Given the description of an element on the screen output the (x, y) to click on. 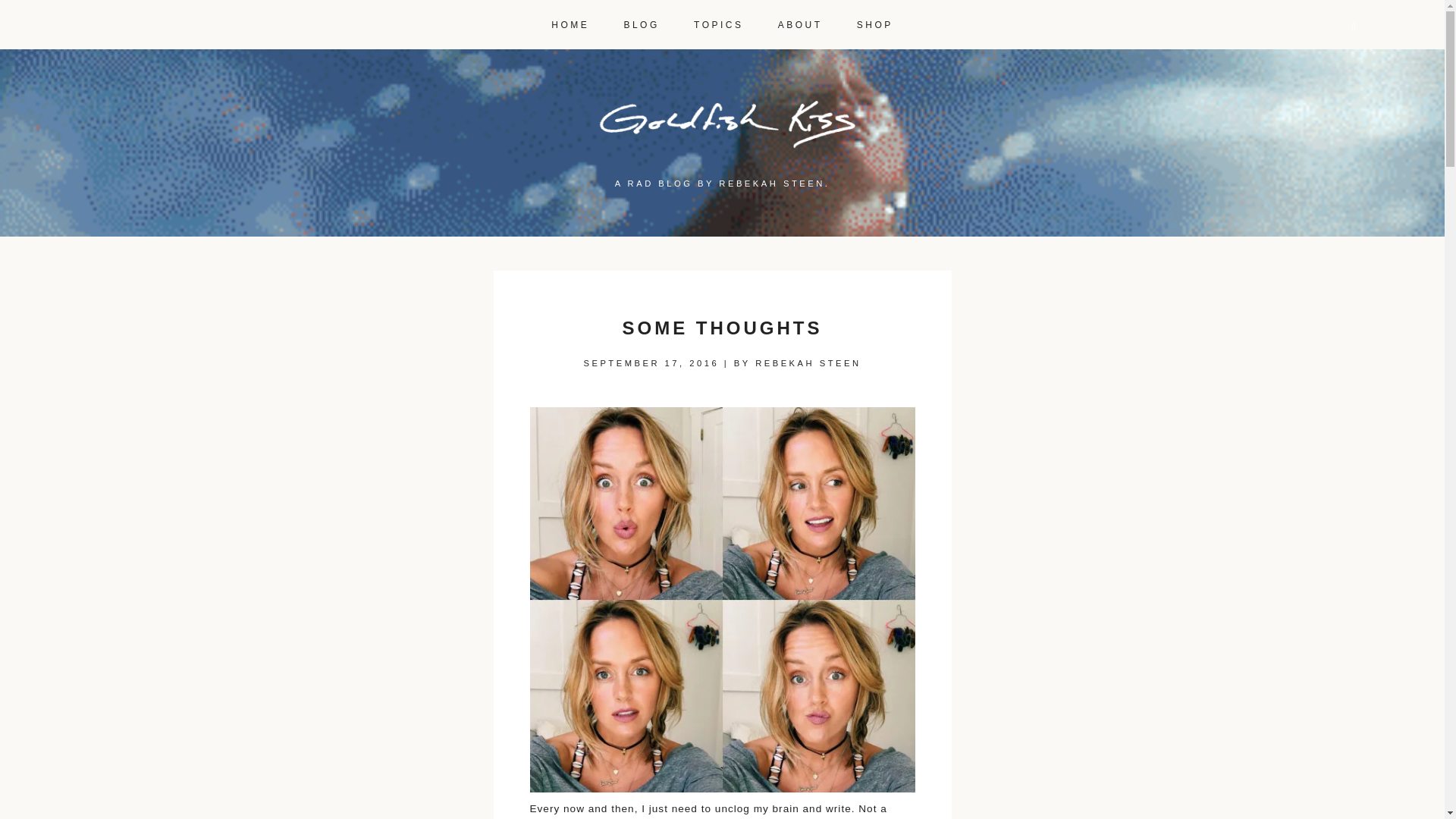
BLOG (641, 18)
SEPTEMBER 17, 2016 (651, 362)
REBEKAH STEEN (807, 362)
ABOUT (799, 18)
TOPICS (718, 18)
Search for: (1311, 26)
HOME (570, 18)
Search (28, 9)
SHOP (875, 18)
